Given the description of an element on the screen output the (x, y) to click on. 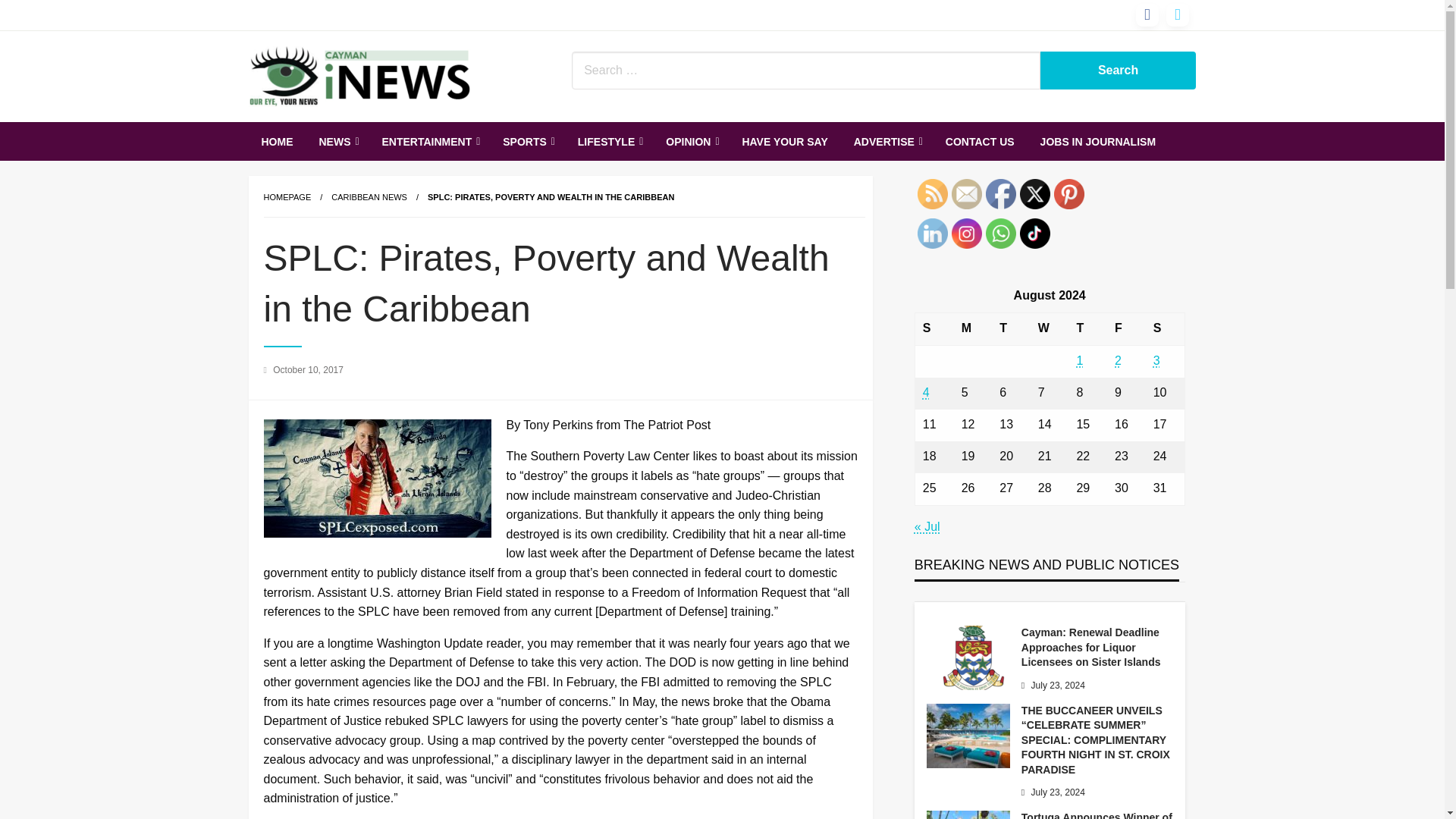
Facebook (1000, 194)
Search (1118, 70)
ENTERTAINMENT (428, 141)
Follow by Email (966, 194)
SPLC: Pirates, Poverty and Wealth in the Caribbean (551, 196)
Twitter (1034, 194)
Jobs in Journalism on Jooble (1098, 141)
HOME (276, 141)
NEWS (337, 141)
Caribbean News (369, 196)
RSS (932, 194)
Search (1118, 70)
LinkedIn (932, 233)
Pinterest (1069, 194)
LIFESTYLE (608, 141)
